Given the description of an element on the screen output the (x, y) to click on. 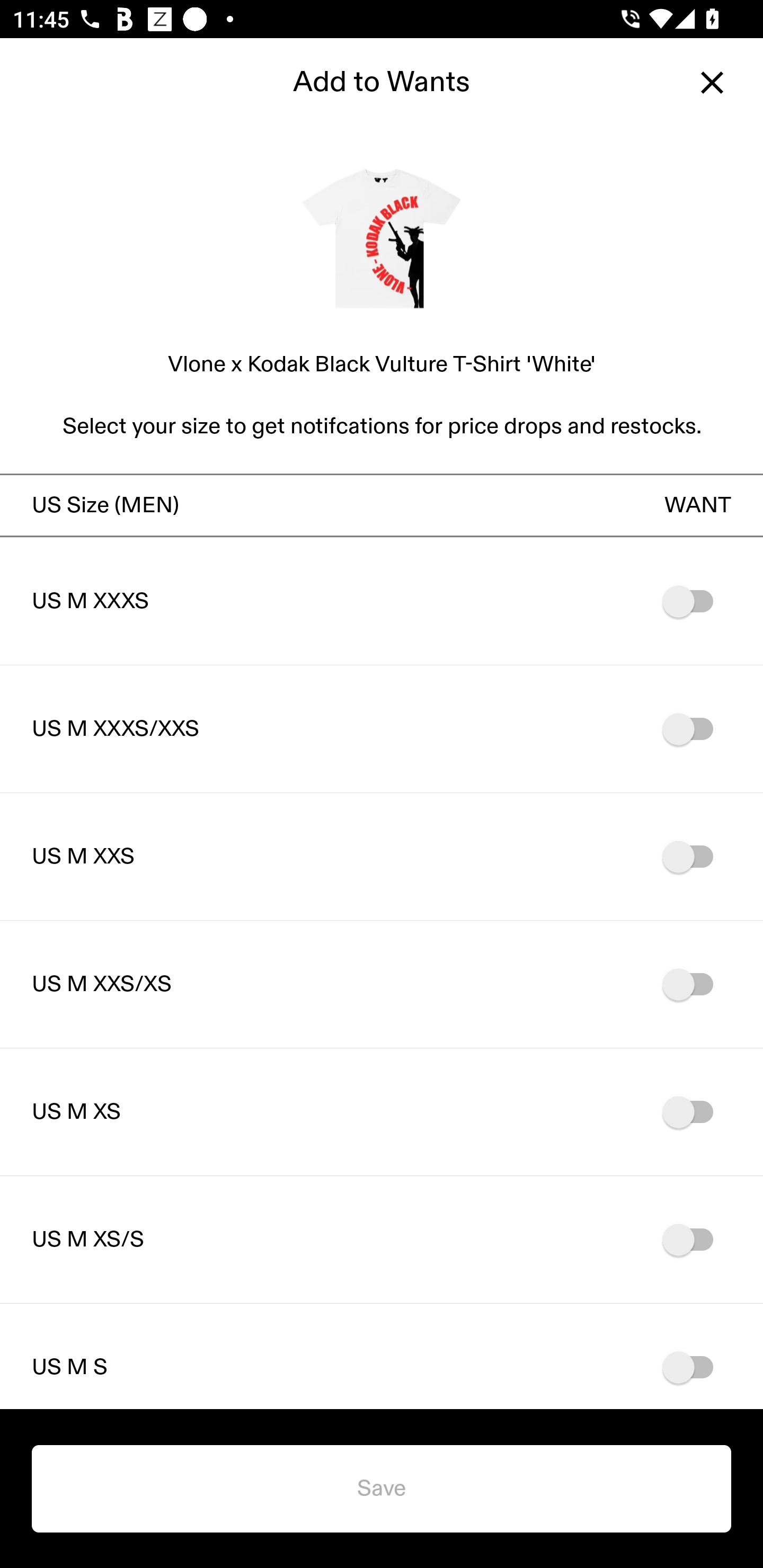
Save (381, 1488)
